Given the description of an element on the screen output the (x, y) to click on. 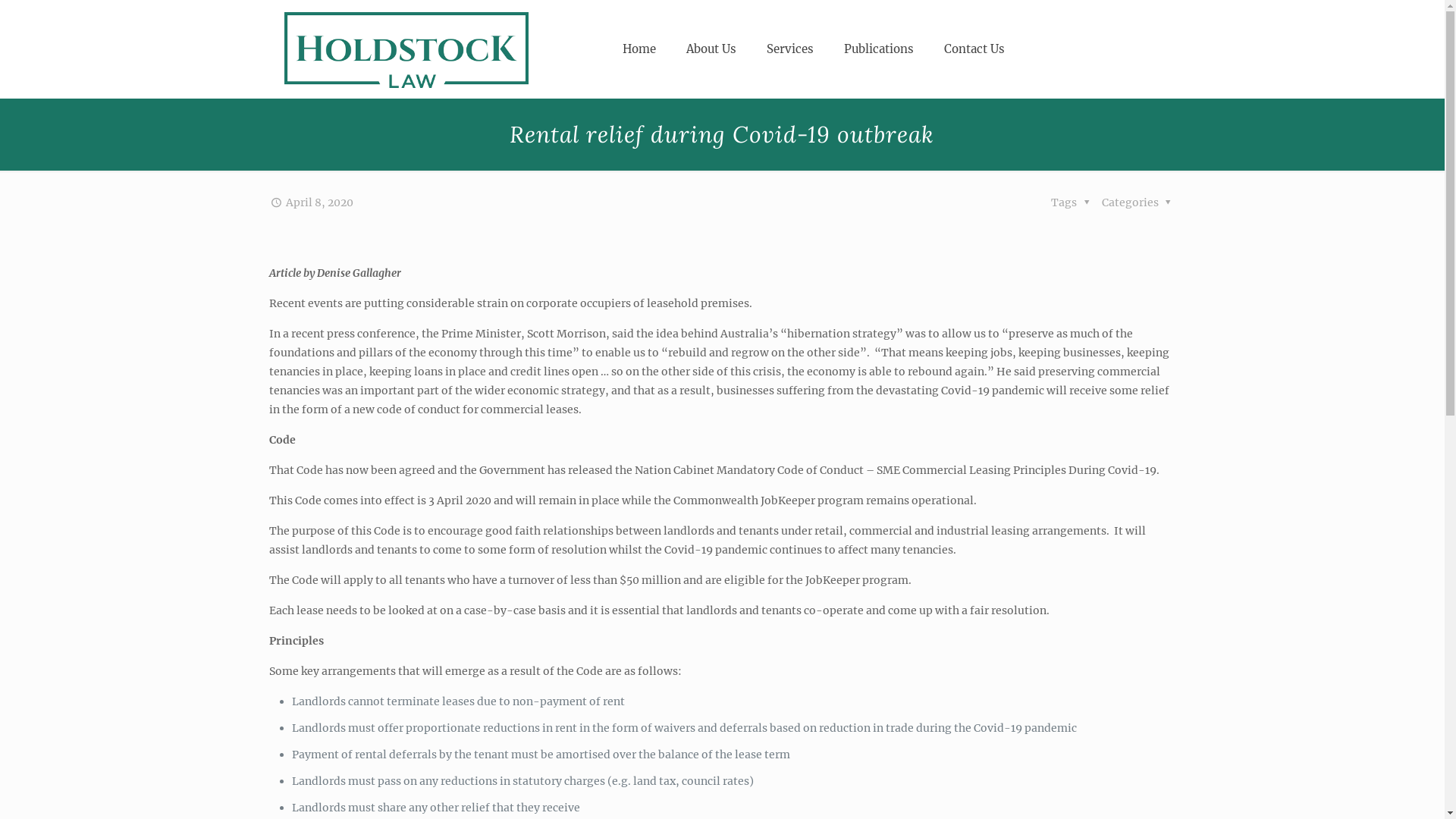
Contact Us Element type: text (973, 49)
Publications Element type: text (878, 49)
Services Element type: text (789, 49)
Home Element type: text (639, 49)
Holdstock Law Element type: hover (406, 49)
About Us Element type: text (711, 49)
